Given the description of an element on the screen output the (x, y) to click on. 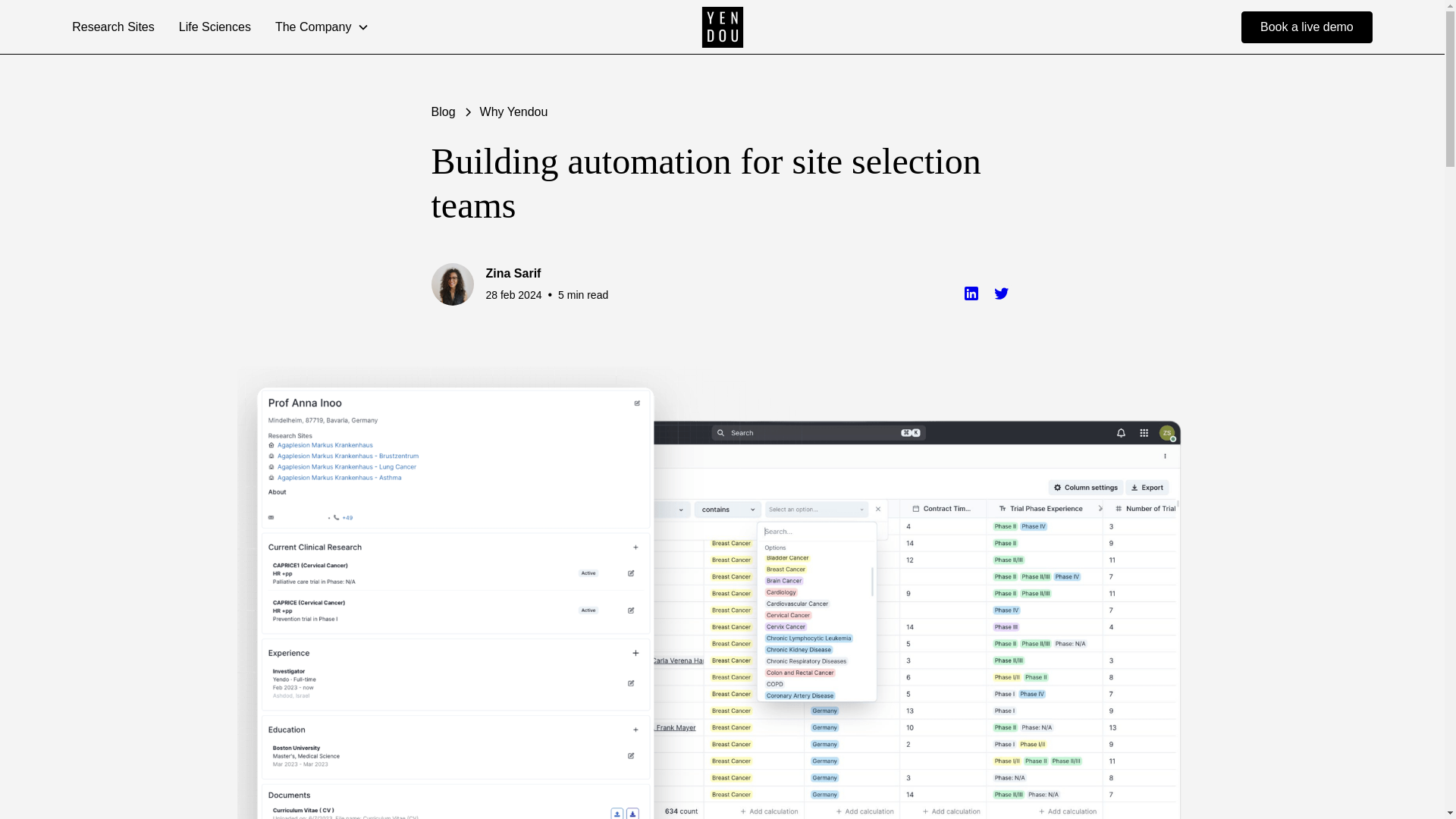
Book a live demo (1307, 26)
Life Sciences (215, 27)
Research Sites (113, 27)
Why Yendou (514, 112)
Blog (442, 112)
